Given the description of an element on the screen output the (x, y) to click on. 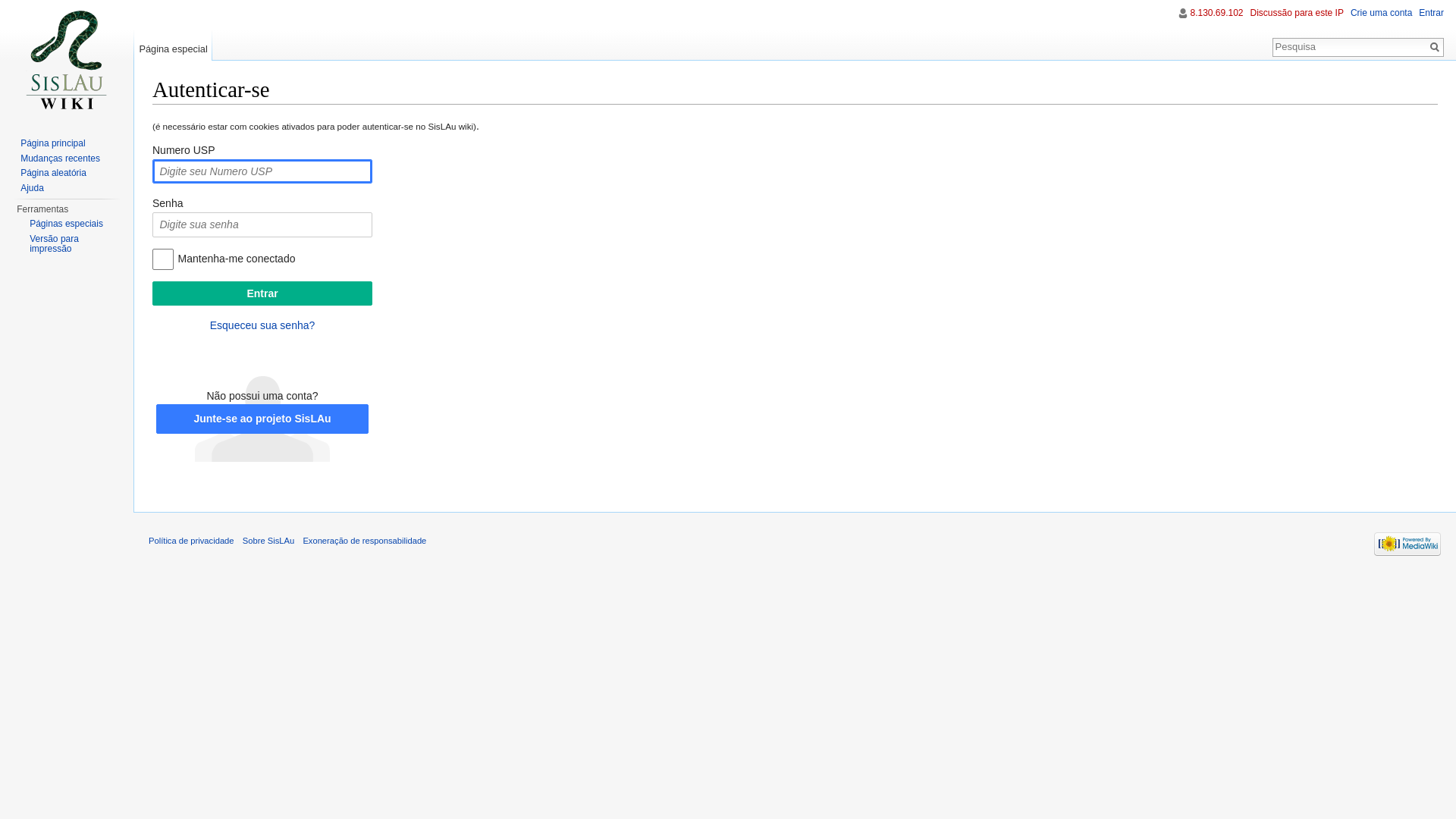
Ajuda Element type: text (31, 187)
Pesquisar em SisLAu [alt-shift-f] Element type: hover (1349, 45)
Entrar Element type: text (1430, 12)
Ir Element type: text (1434, 46)
Entrar Element type: text (262, 293)
8.130.69.102 Element type: text (1215, 12)
Esqueceu sua senha? Element type: text (262, 325)
Crie uma conta Element type: text (1381, 12)
Junte-se ao projeto SisLAu Element type: text (262, 418)
Sobre SisLAu Element type: text (268, 540)
